Given the description of an element on the screen output the (x, y) to click on. 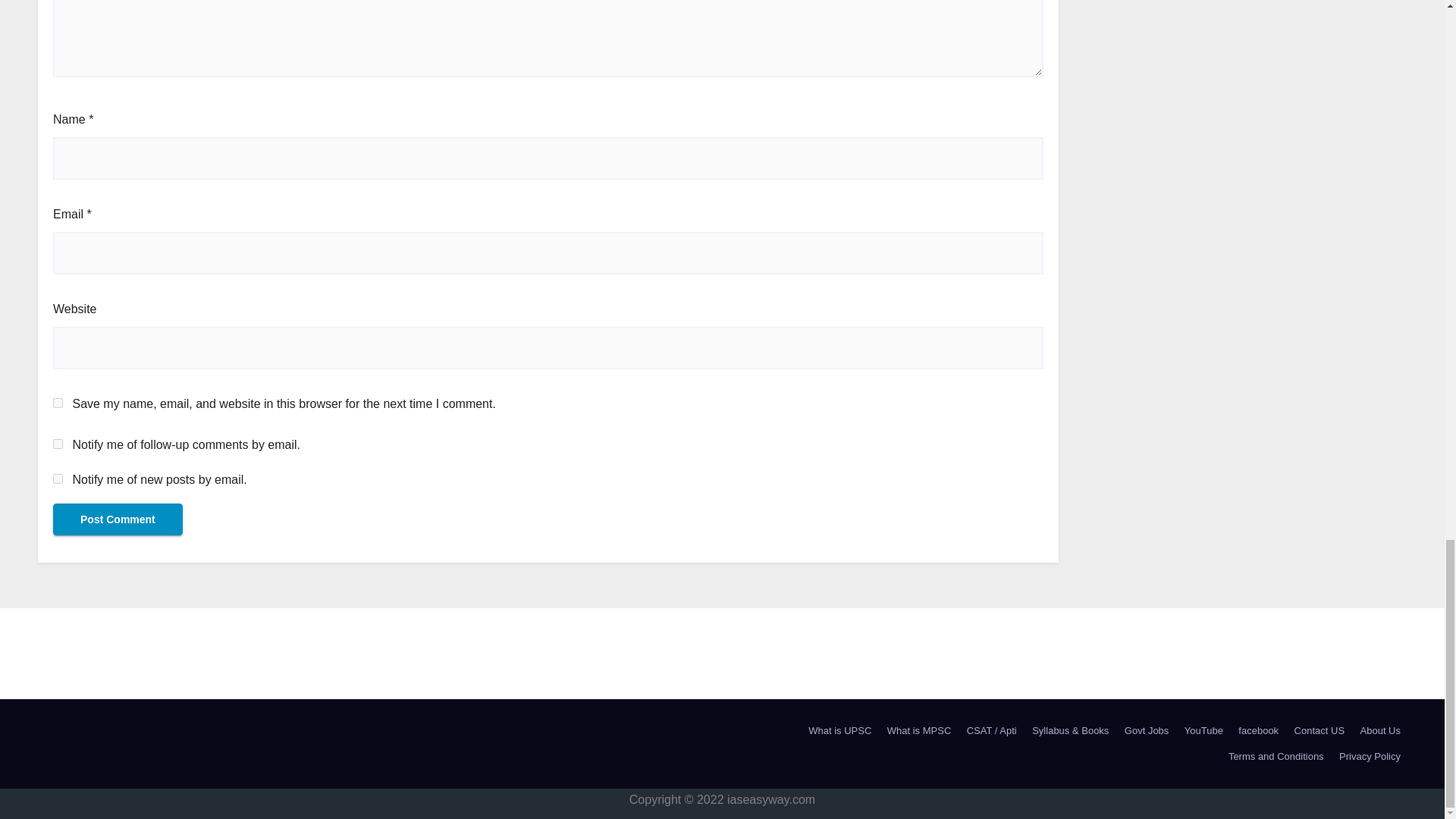
yes (57, 402)
subscribe (57, 479)
Post Comment (117, 519)
subscribe (57, 443)
